Given the description of an element on the screen output the (x, y) to click on. 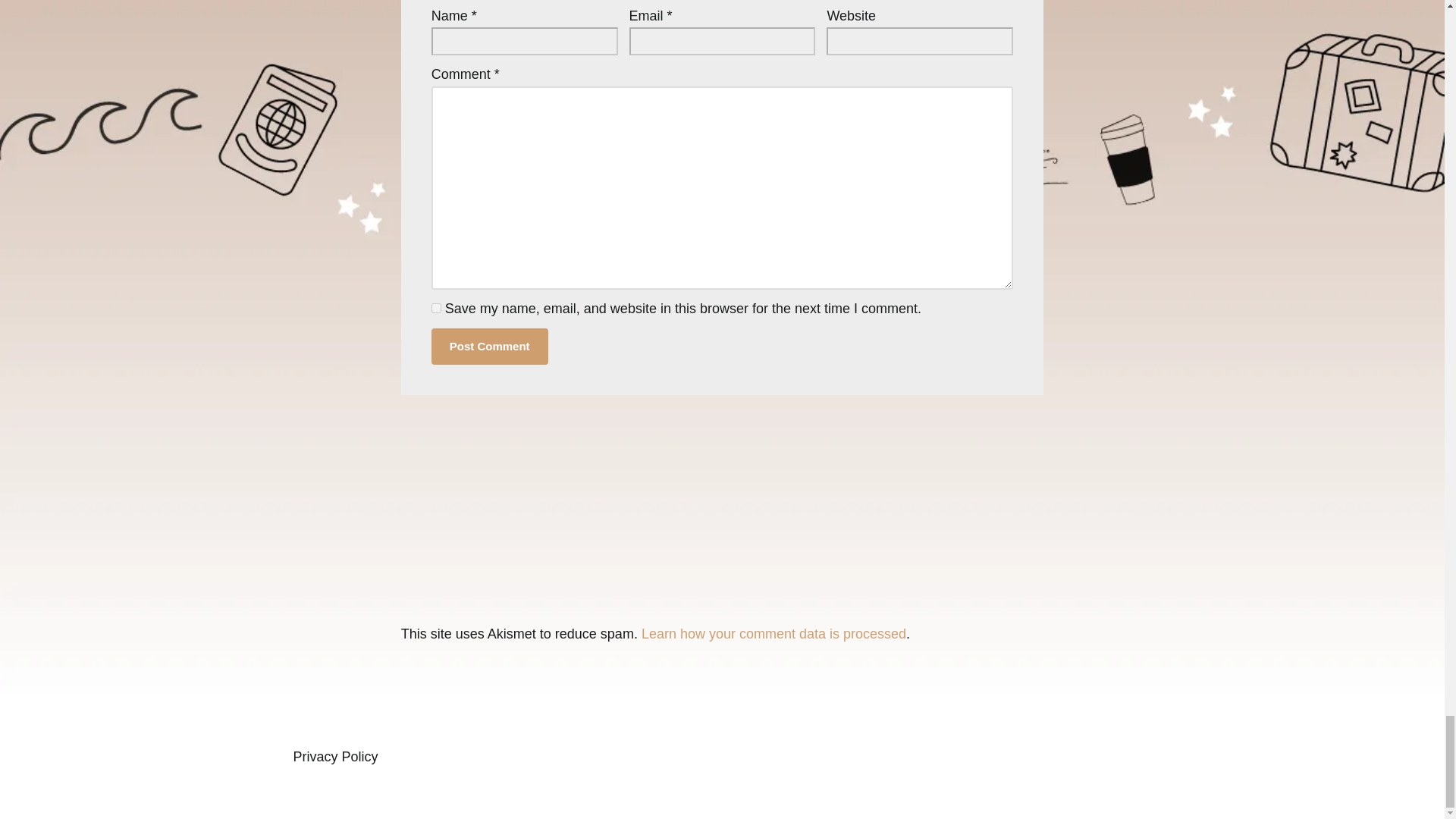
Post Comment (489, 346)
yes (435, 307)
